Given the description of an element on the screen output the (x, y) to click on. 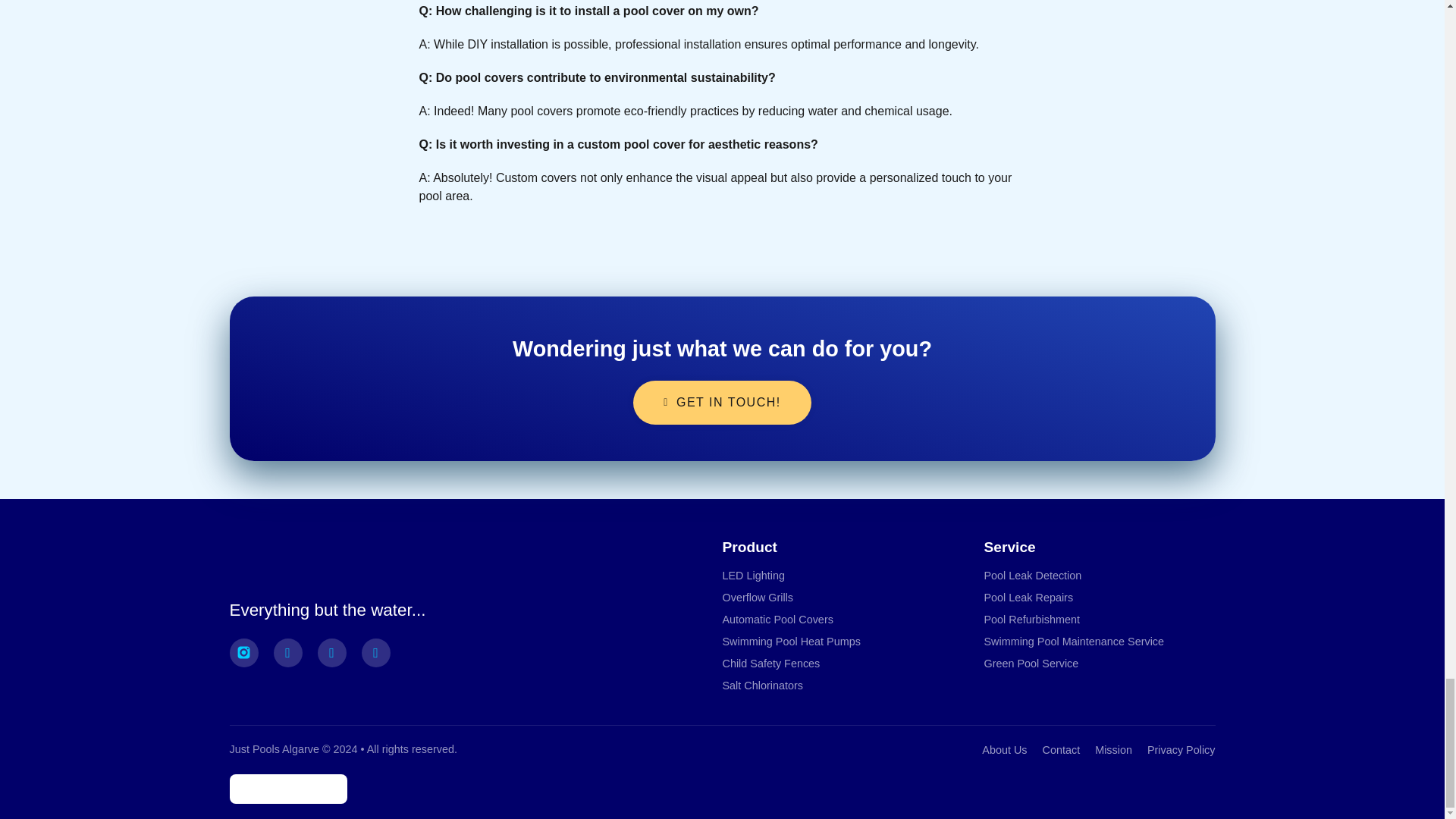
Overflow Grills (757, 596)
Automatic Pool Covers (777, 618)
LED Lighting (753, 574)
GET IN TOUCH! (721, 402)
